Given the description of an element on the screen output the (x, y) to click on. 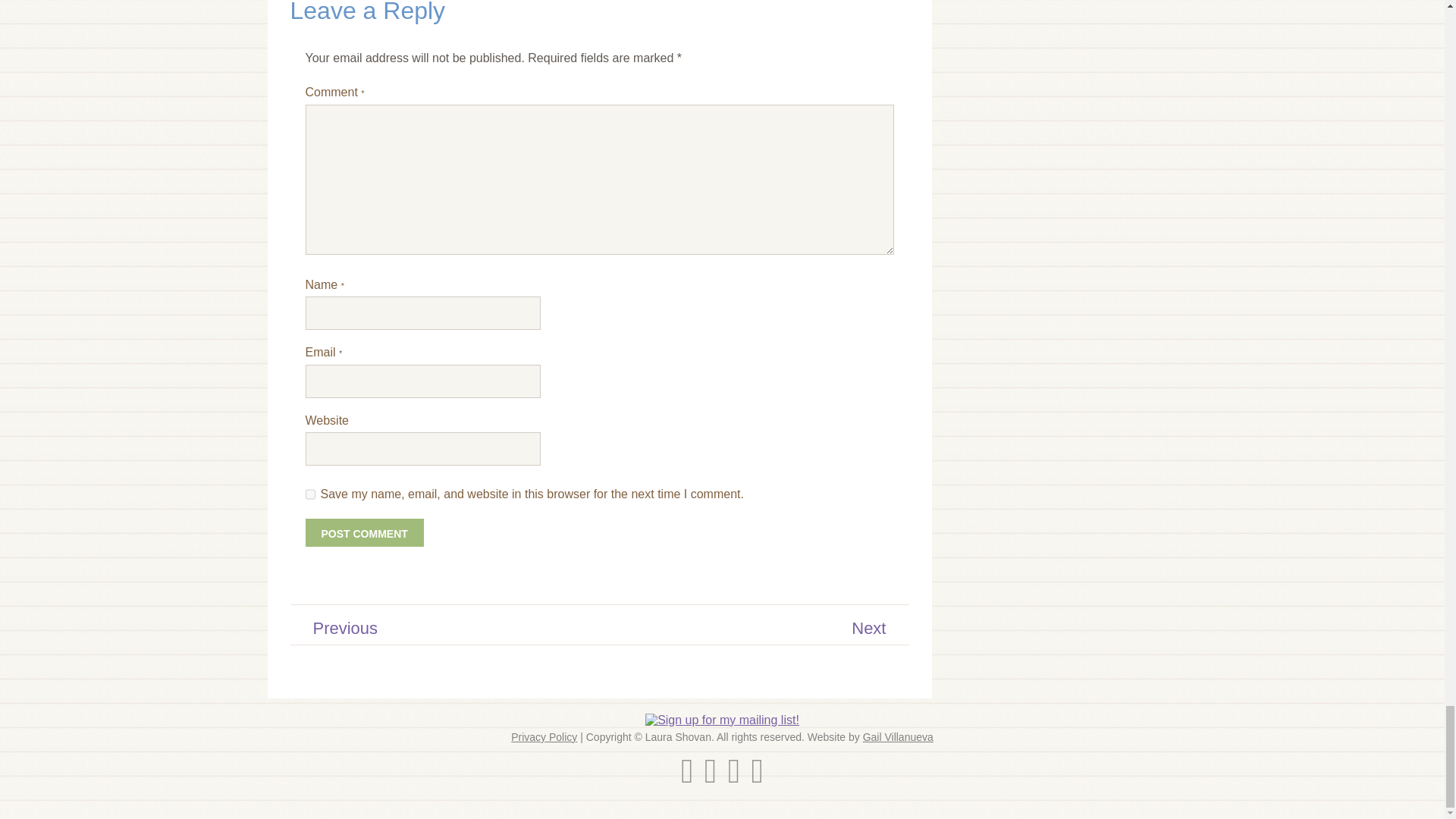
Post Comment (363, 532)
Contact Me (756, 778)
Twitter (687, 778)
Instagram (710, 778)
Goodreads (733, 778)
